Given the description of an element on the screen output the (x, y) to click on. 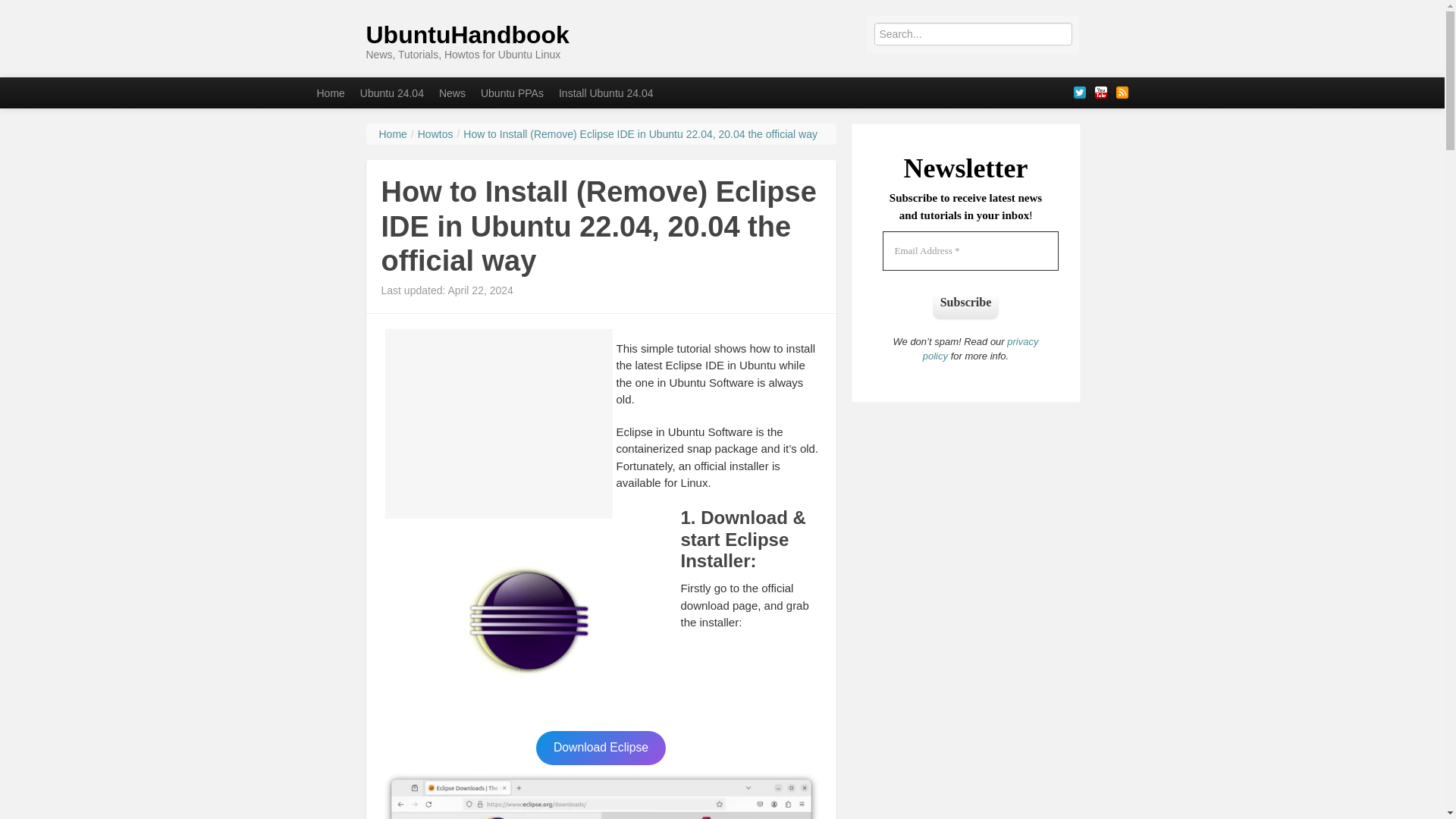
Install Ubuntu 24.04 (606, 92)
Ubuntu 24.04 (391, 92)
Home (330, 92)
Download Eclipse (600, 747)
News (451, 92)
News (451, 92)
UbuntuHandbook (467, 34)
UbuntuHandbook (467, 34)
Ubuntu 24.04 (391, 92)
Install Ubuntu 24.04 (606, 92)
